Given the description of an element on the screen output the (x, y) to click on. 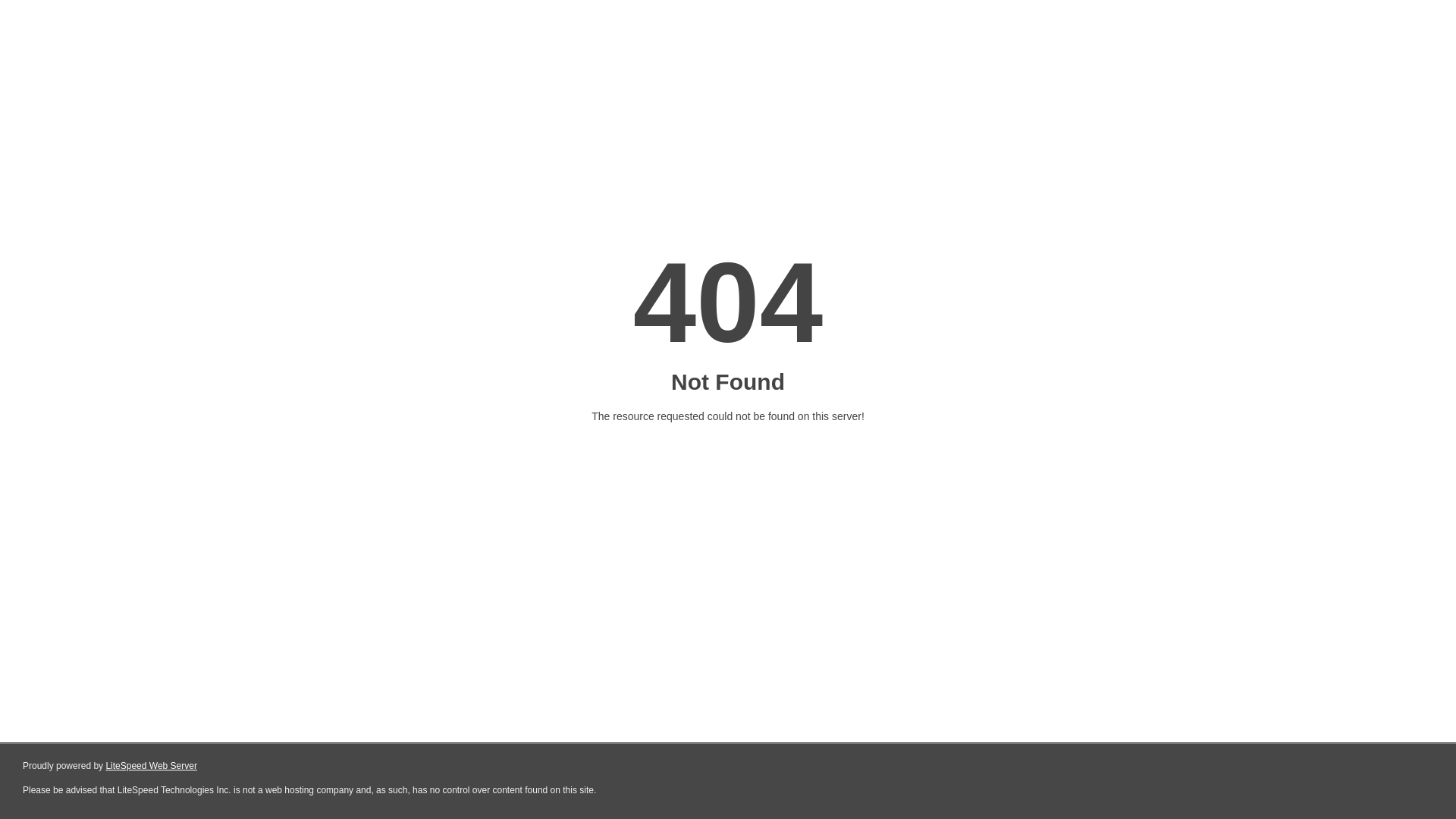
LiteSpeed Web Server Element type: text (151, 765)
